Given the description of an element on the screen output the (x, y) to click on. 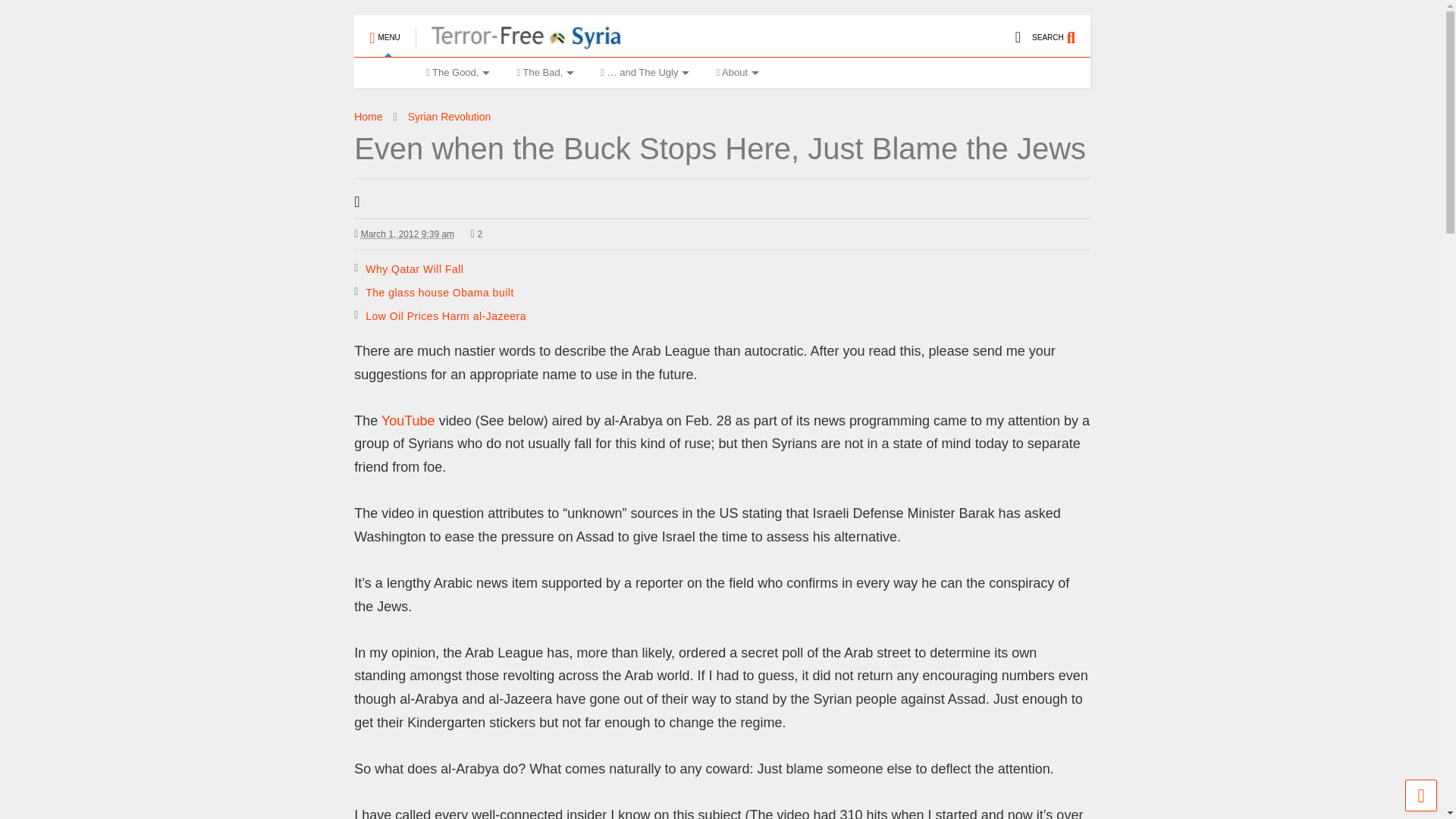
The Good, (456, 72)
Low Oil Prices Harm al-Jazeera (445, 316)
March 1, 2012 9:39 am (407, 234)
The Bad, (542, 72)
SEARCH (1061, 30)
About (735, 72)
Why Qatar Will Fall (414, 268)
MENU (383, 30)
Home (381, 72)
Terror Free Syria (517, 42)
2012-03-01T09:39:33-05:00 (403, 233)
The glass house Obama built (439, 292)
